Given the description of an element on the screen output the (x, y) to click on. 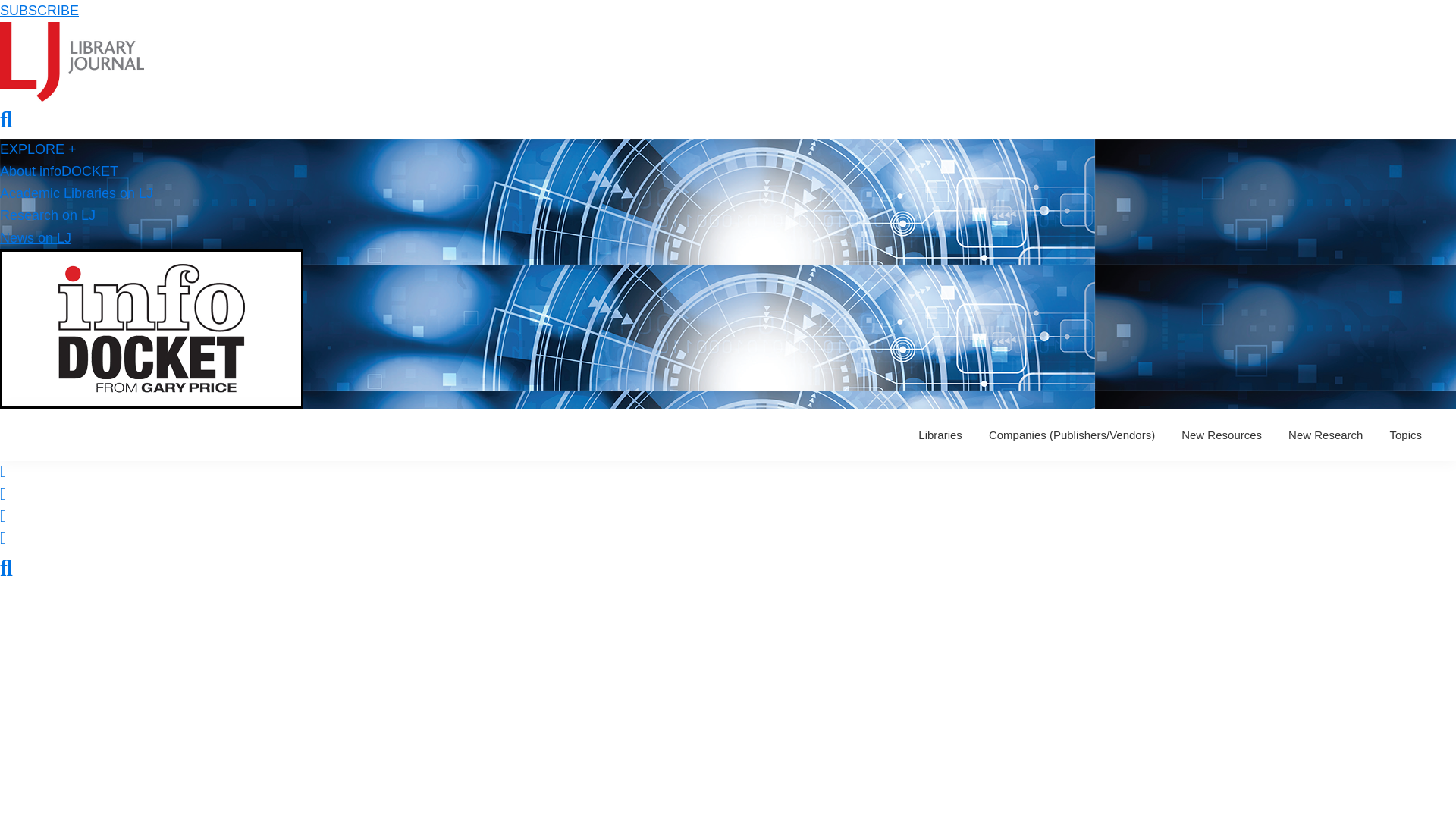
Research on LJ (48, 215)
New Research (1325, 434)
News on LJ (35, 237)
About infoDOCKET (58, 171)
New Resources (1221, 434)
Academic Libraries on LJ (76, 192)
Libraries (940, 434)
SUBSCRIBE (39, 10)
